Given the description of an element on the screen output the (x, y) to click on. 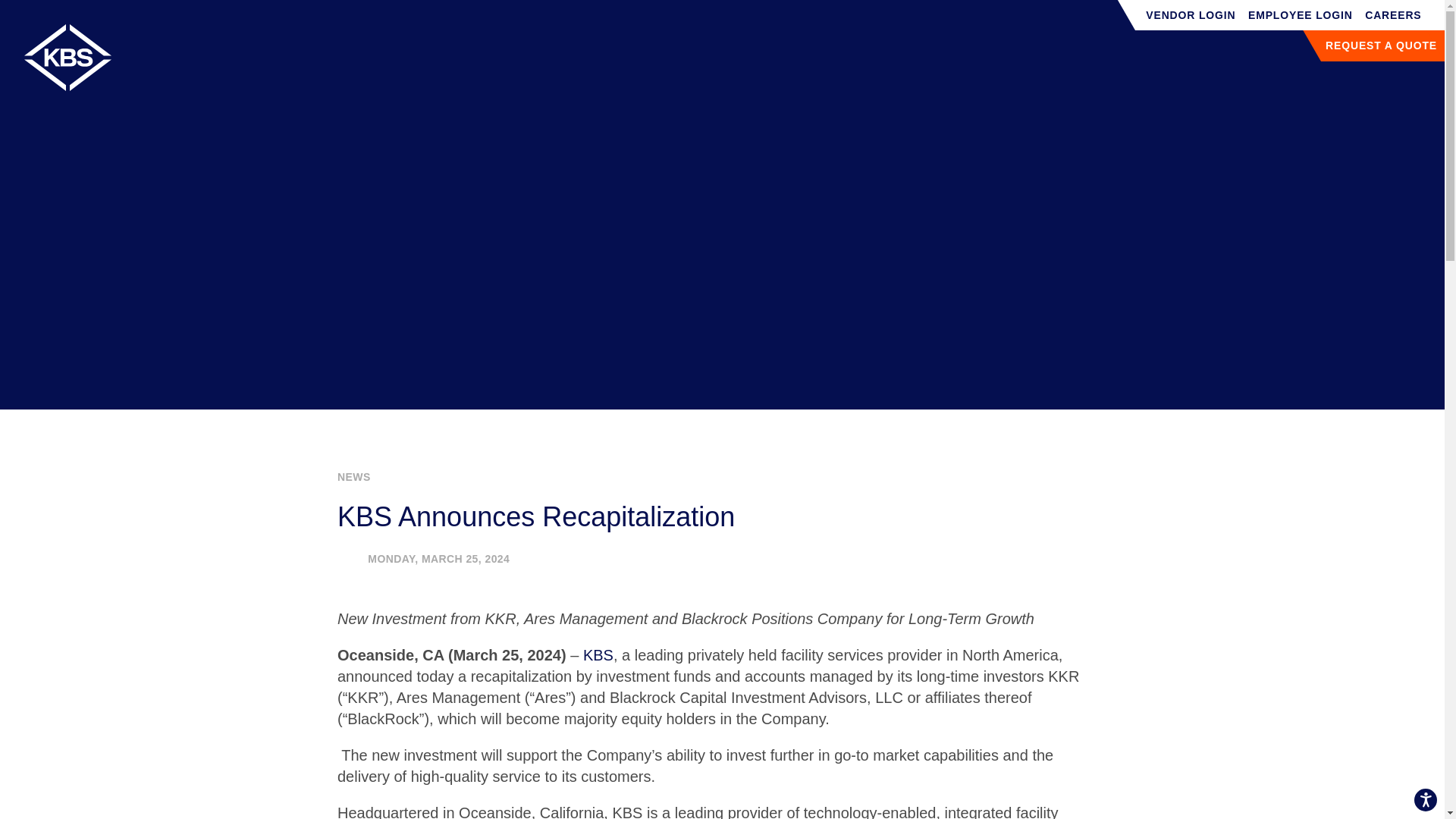
NEWS (354, 476)
KBS (597, 655)
